Given the description of an element on the screen output the (x, y) to click on. 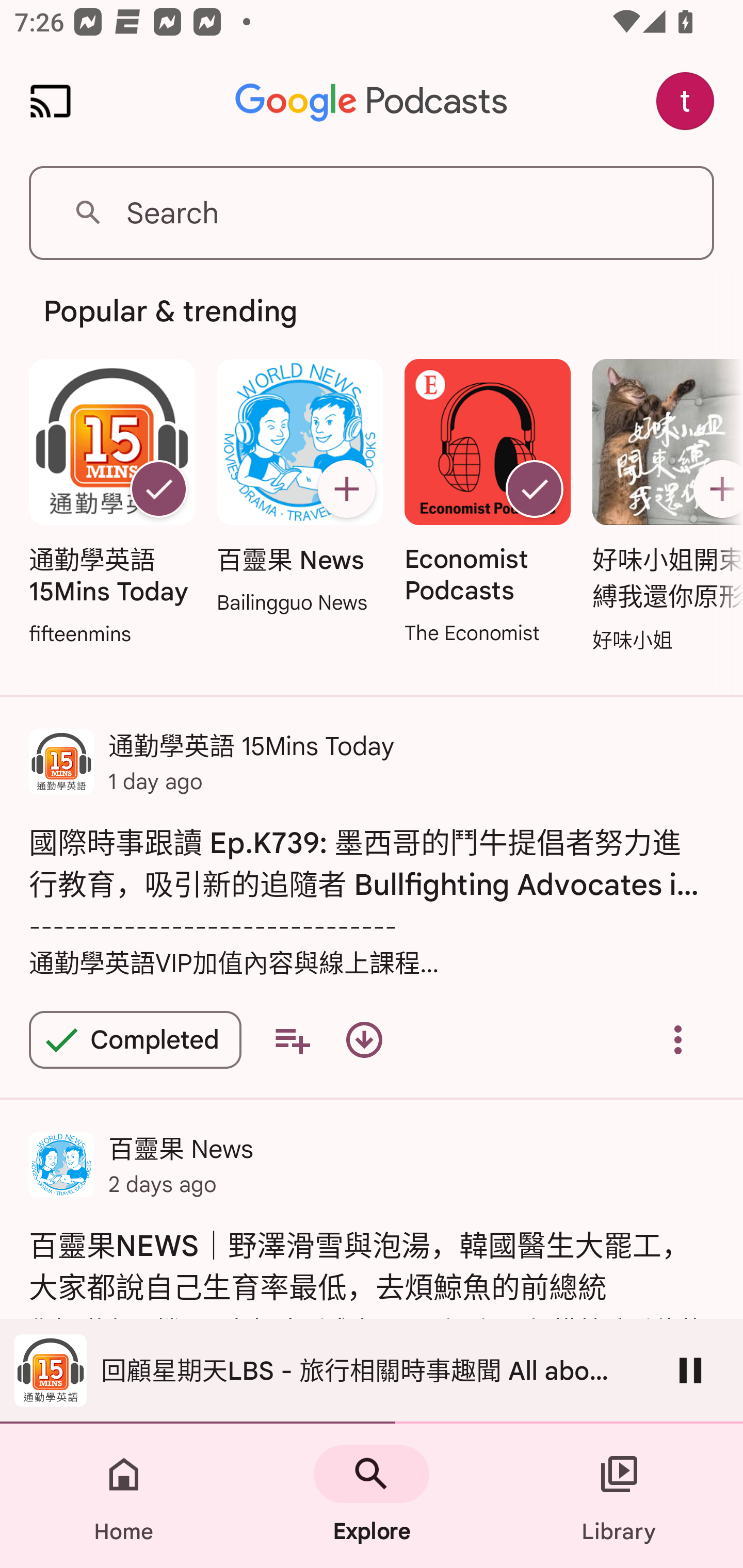
Cast. Disconnected (50, 101)
Search (371, 212)
百靈果 News Subscribe 百靈果 News Bailingguo News (299, 488)
好味小姐開束縛我還你原形 Subscribe 好味小姐開束縛我還你原形 好味小姐 (662, 507)
Unsubscribe (158, 489)
Subscribe (346, 489)
Unsubscribe (534, 489)
Subscribe (714, 489)
Add to your queue (291, 1040)
Download episode (364, 1040)
Overflow menu (677, 1040)
Pause (690, 1370)
Home (123, 1495)
Library (619, 1495)
